Given the description of an element on the screen output the (x, y) to click on. 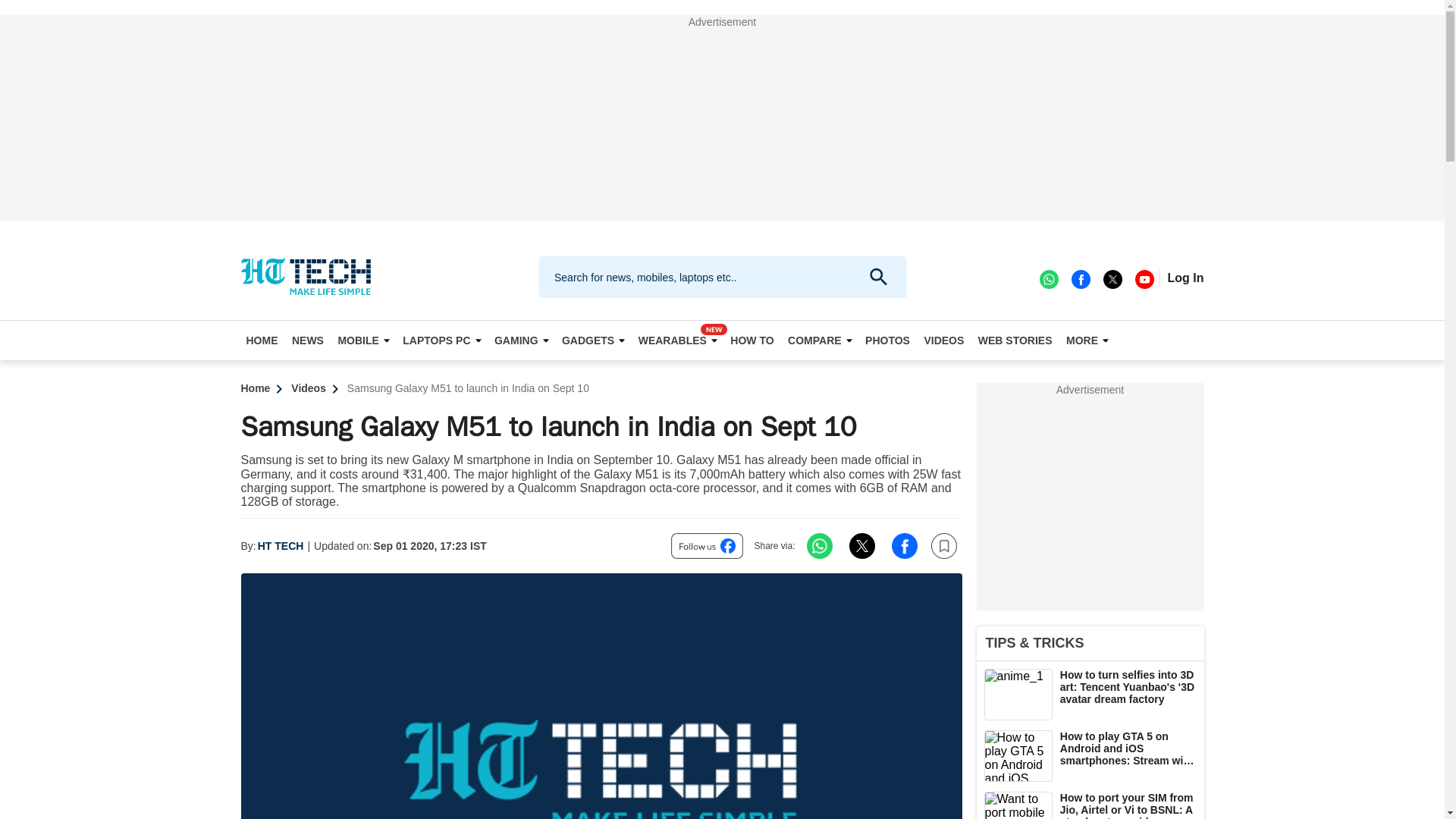
LAPTOPS PC (440, 340)
facebook (1079, 278)
WEARABLES (677, 340)
HOME (262, 340)
NEWS (307, 340)
GAMING (521, 340)
Get to know more about News from India and around the world. (307, 340)
HOW TO (751, 340)
Login (1185, 277)
MOBILE (362, 340)
twitter (1111, 278)
WhatsApp channel (1048, 278)
